Given the description of an element on the screen output the (x, y) to click on. 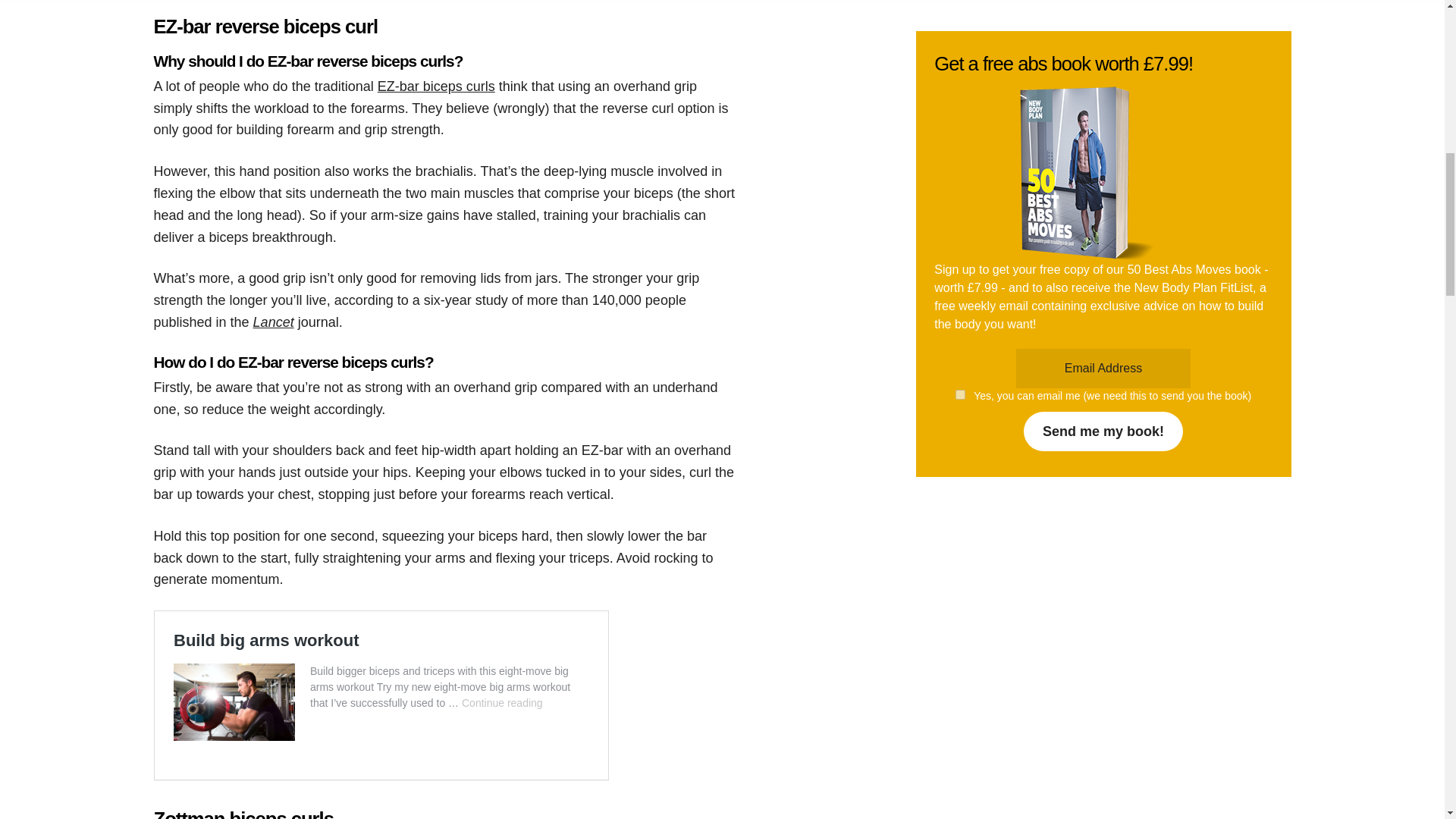
Send me my book! (1102, 262)
1 (960, 225)
